Given the description of an element on the screen output the (x, y) to click on. 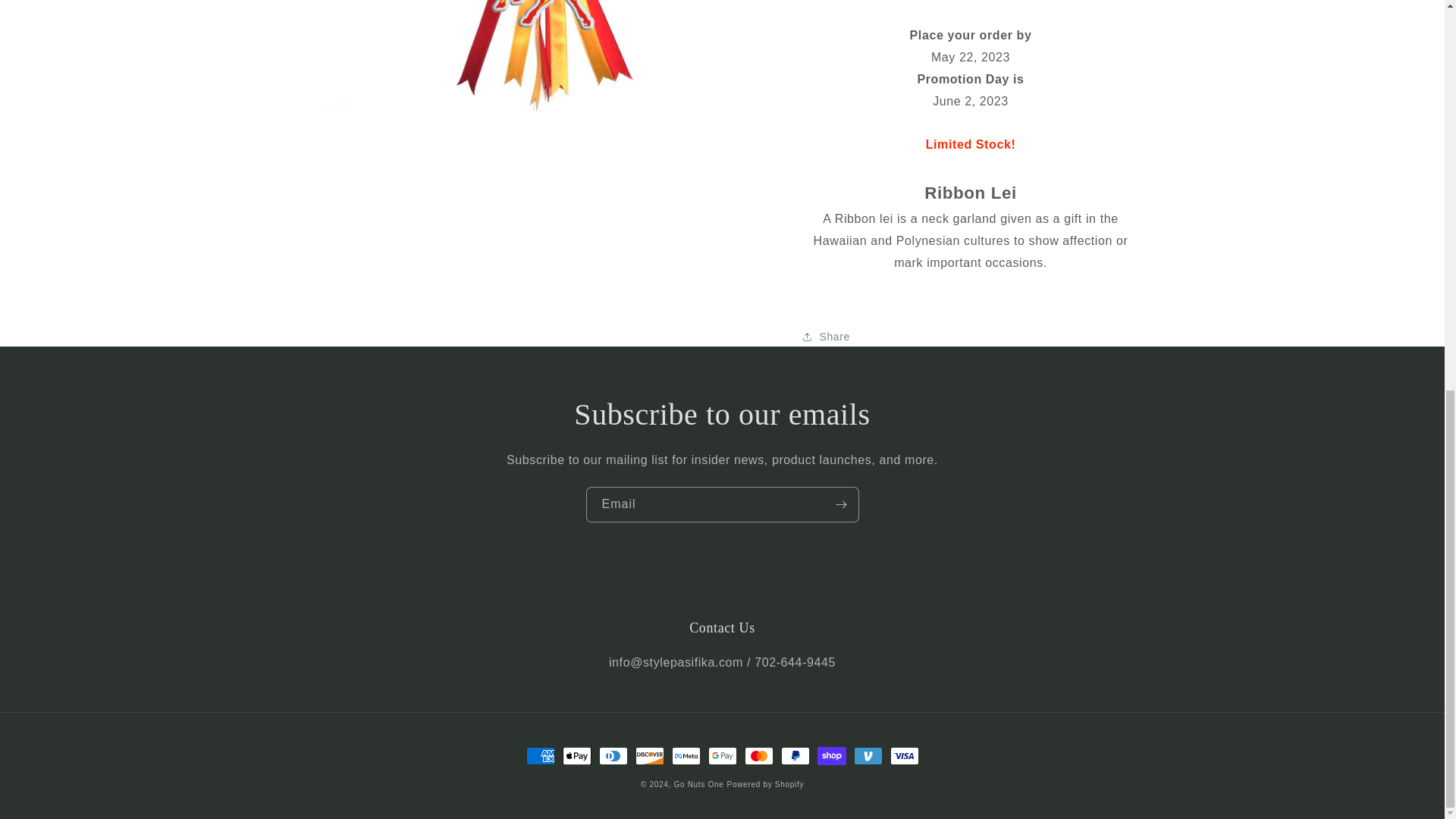
Powered by Shopify (765, 784)
Go Nuts One (697, 784)
